Given the description of an element on the screen output the (x, y) to click on. 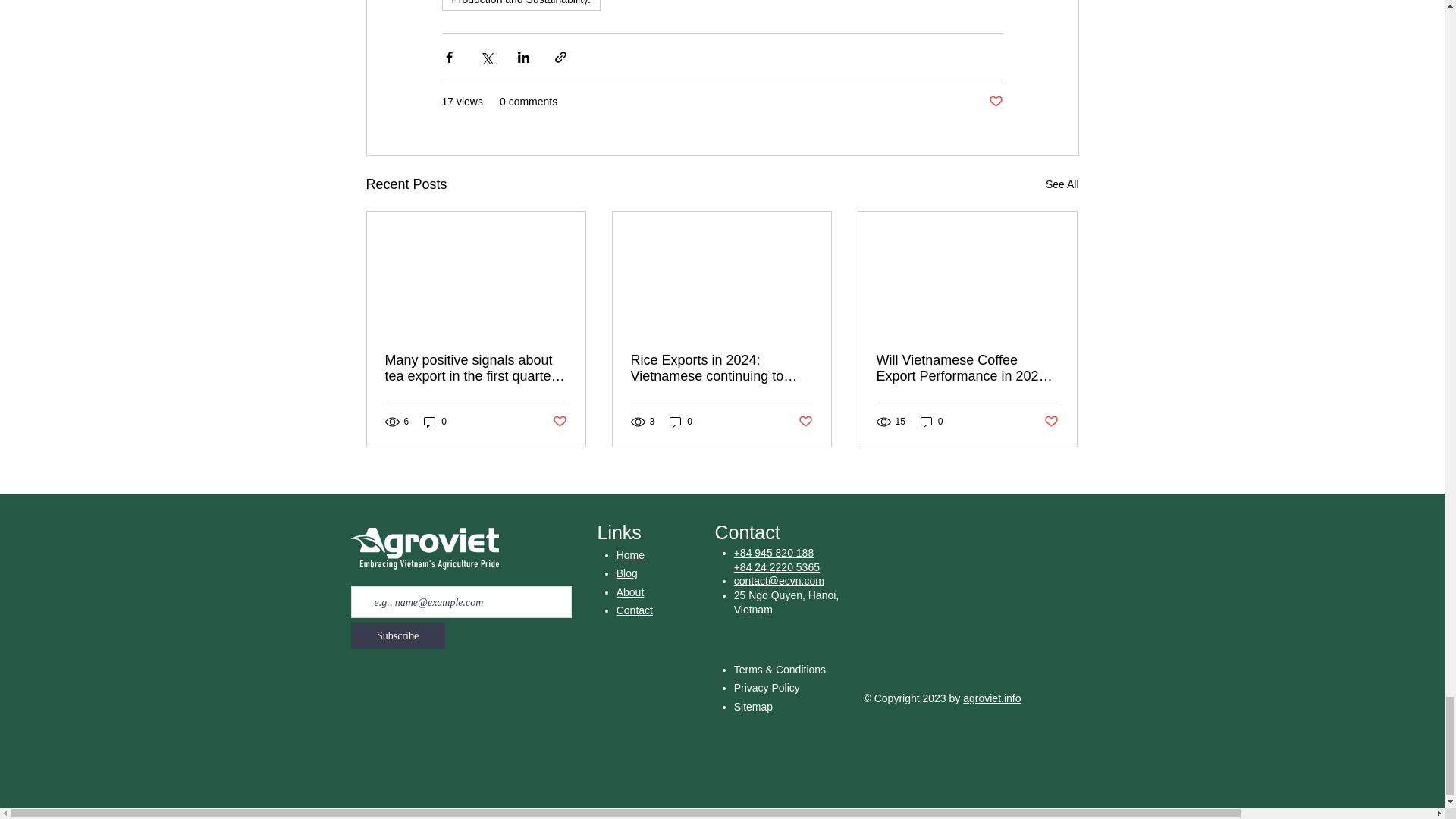
Post not marked as liked (995, 101)
0 (931, 421)
Post not marked as liked (558, 421)
Subscribe (397, 635)
Production and Sustainability. (520, 5)
Post not marked as liked (804, 421)
Post not marked as liked (1050, 421)
0 (681, 421)
0 (435, 421)
Home (630, 554)
Blog (626, 573)
See All (1061, 184)
